Given the description of an element on the screen output the (x, y) to click on. 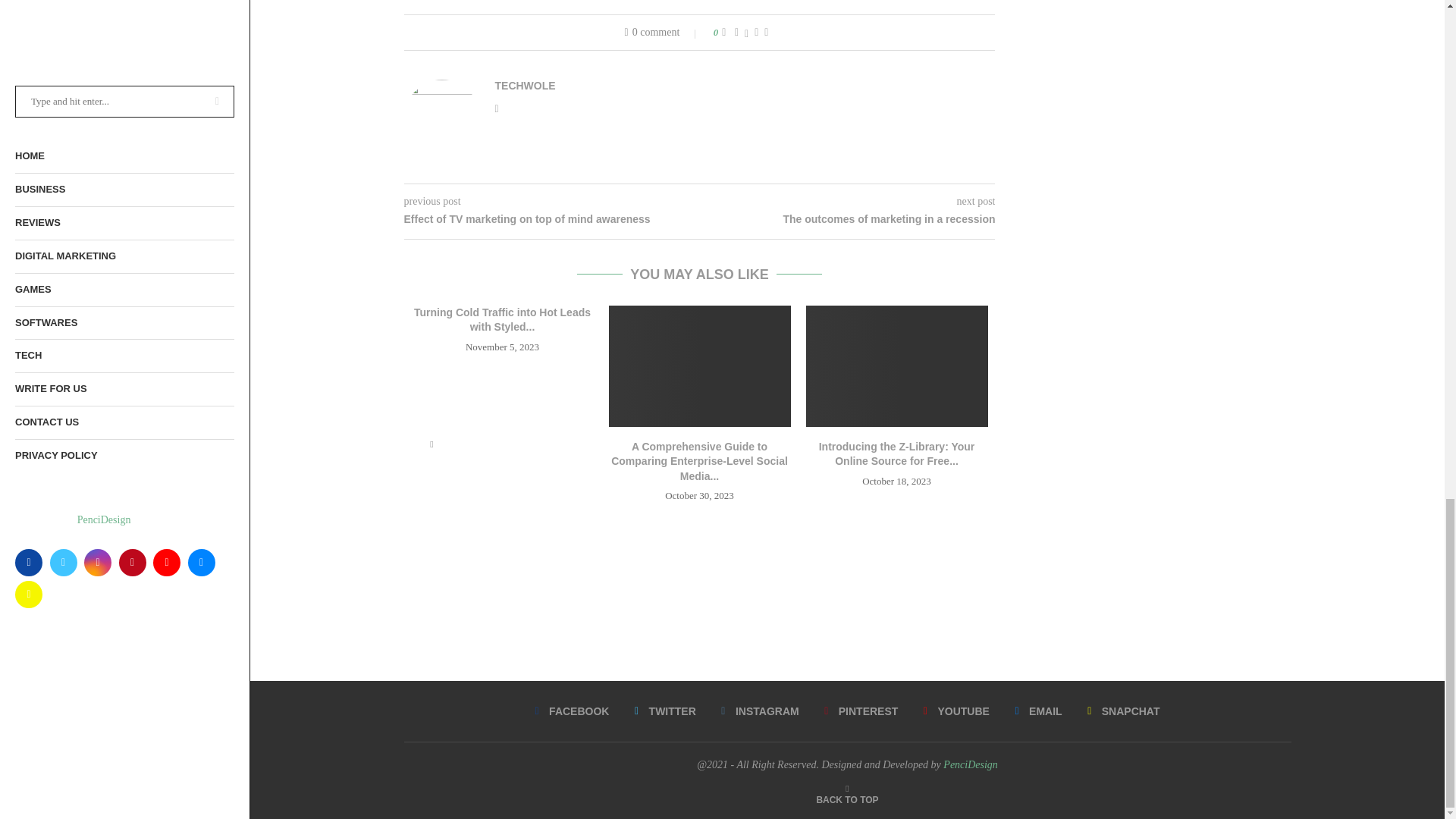
Introducing the Z-Library: Your Online Source for Free Books (896, 365)
The outcomes of marketing in a recession (846, 219)
TECHWOLE (524, 85)
Turning Cold Traffic into Hot Leads with Styled... (502, 319)
Author techwole (524, 85)
Effect of TV marketing on top of mind awareness (550, 219)
